Given the description of an element on the screen output the (x, y) to click on. 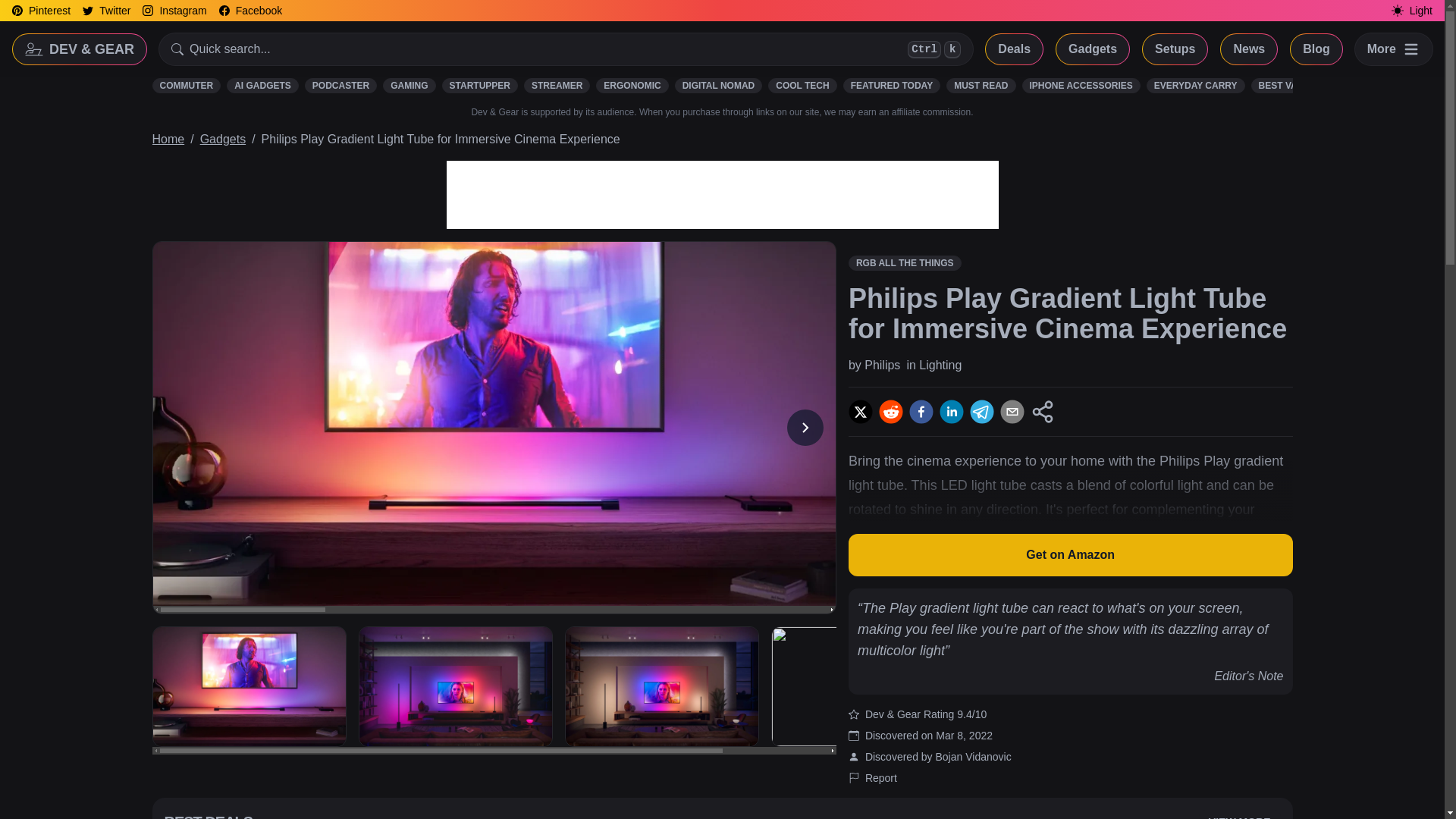
Pinterest (40, 10)
Home (167, 139)
ERGONOMIC (631, 85)
DIGITAL NOMAD (718, 85)
FEATURED TODAY (891, 85)
STARTUPPER (480, 85)
COOL TECH (801, 85)
COMMUTER (186, 85)
Philips (881, 364)
Lighting (939, 364)
Blog (1316, 49)
Gadgets (565, 49)
RGB ALL THE THINGS (223, 139)
EVERYDAY CARRY (1385, 85)
